Given the description of an element on the screen output the (x, y) to click on. 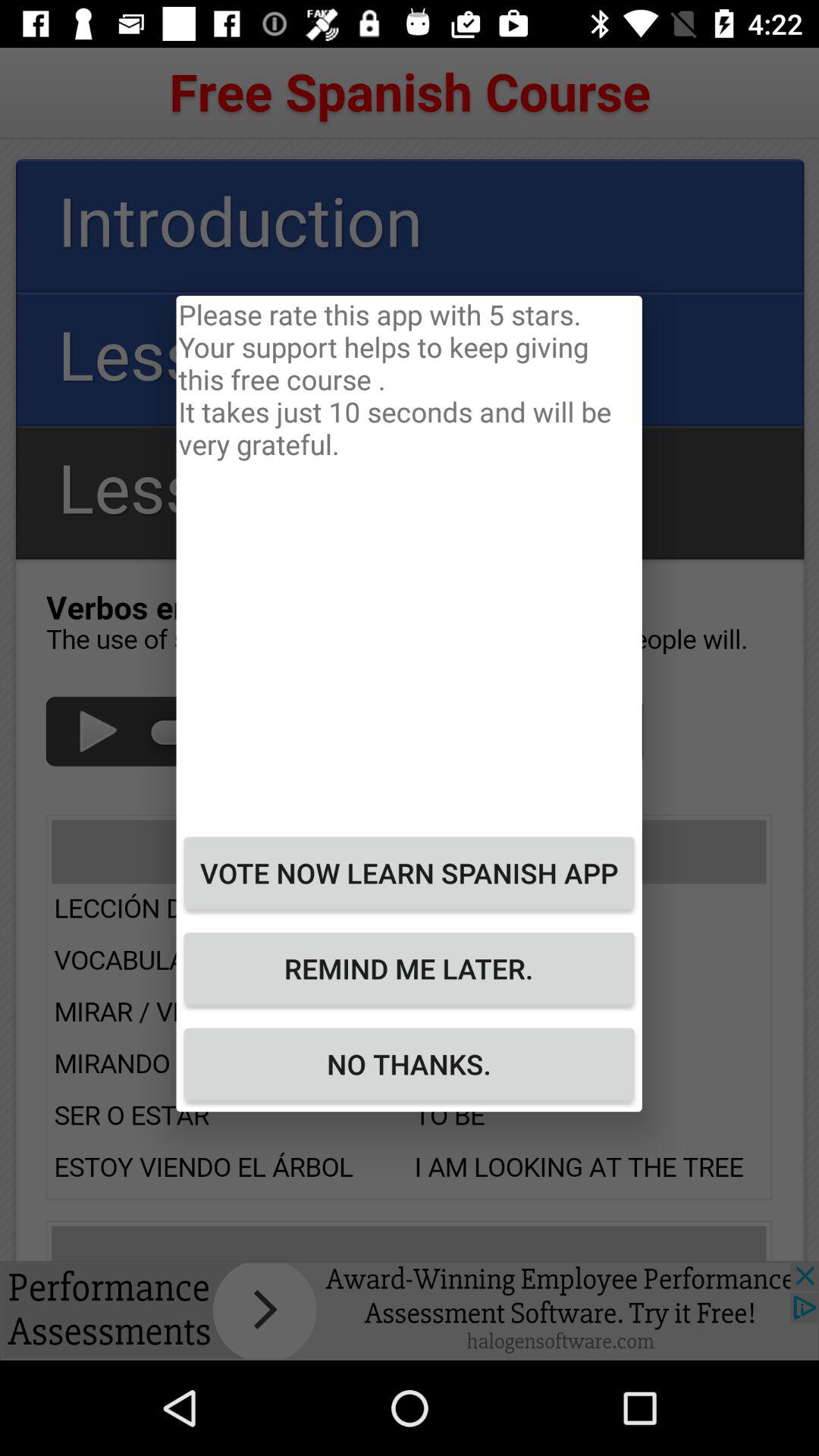
scroll to vote now learn (409, 872)
